Given the description of an element on the screen output the (x, y) to click on. 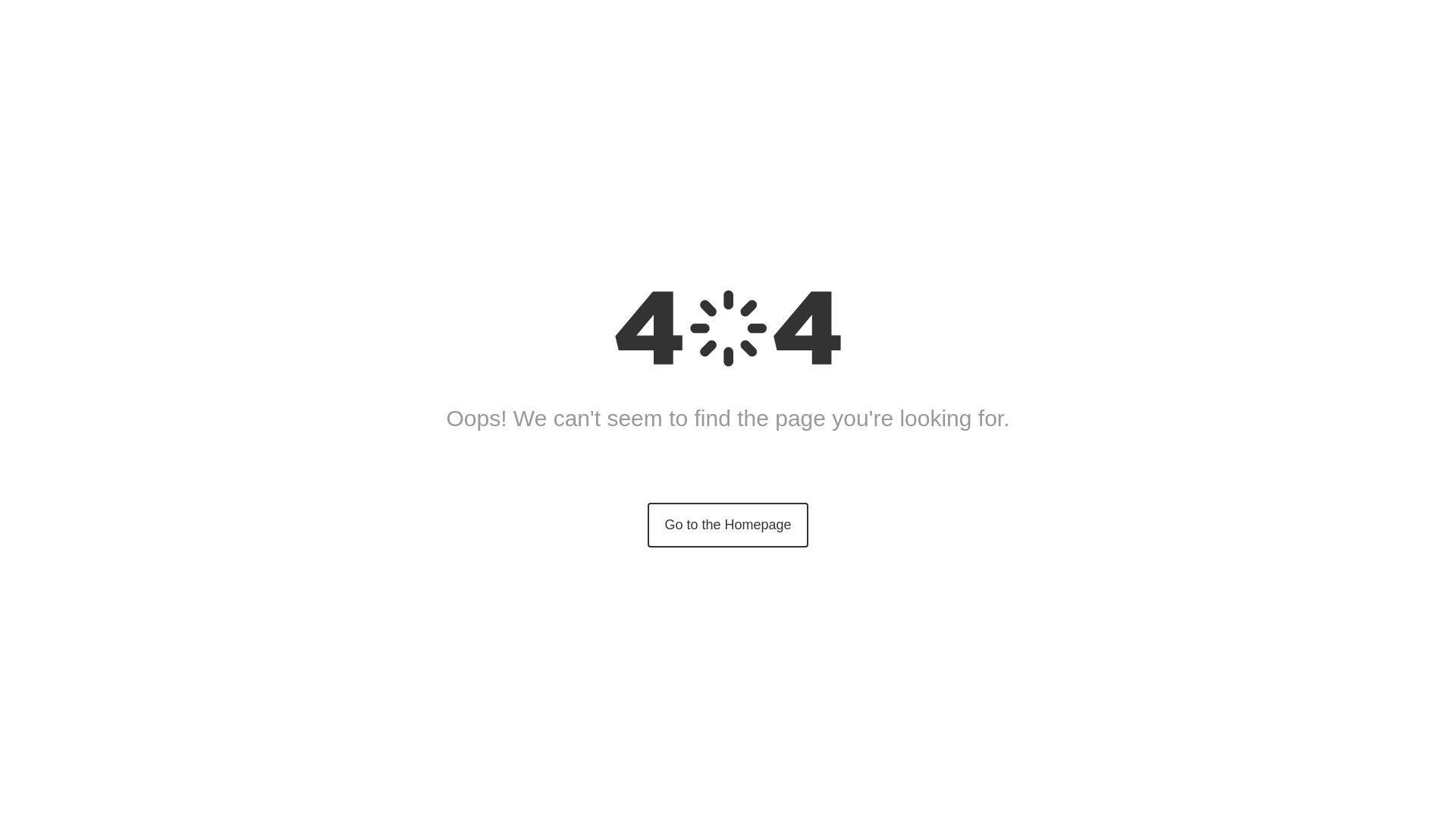
Go to the Homepage Element type: text (727, 524)
